Given the description of an element on the screen output the (x, y) to click on. 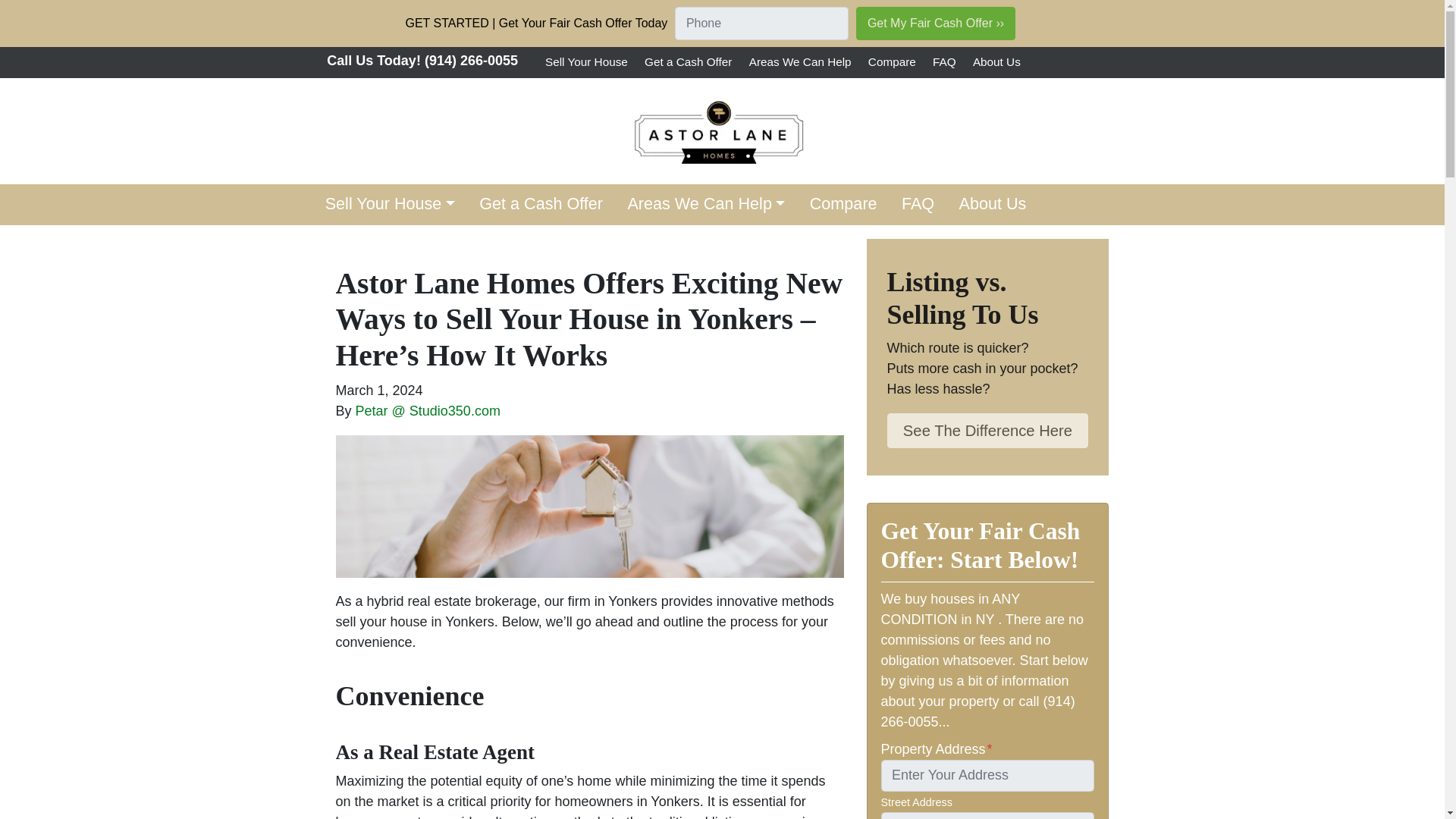
Facebook (1055, 61)
Compare (843, 204)
Sell Your House (586, 61)
About Us (992, 204)
About Us (992, 204)
FAQ (918, 204)
Compare (892, 61)
Areas We Can Help (705, 204)
Get a Cash Offer (687, 61)
Sell Your House (390, 204)
